Given the description of an element on the screen output the (x, y) to click on. 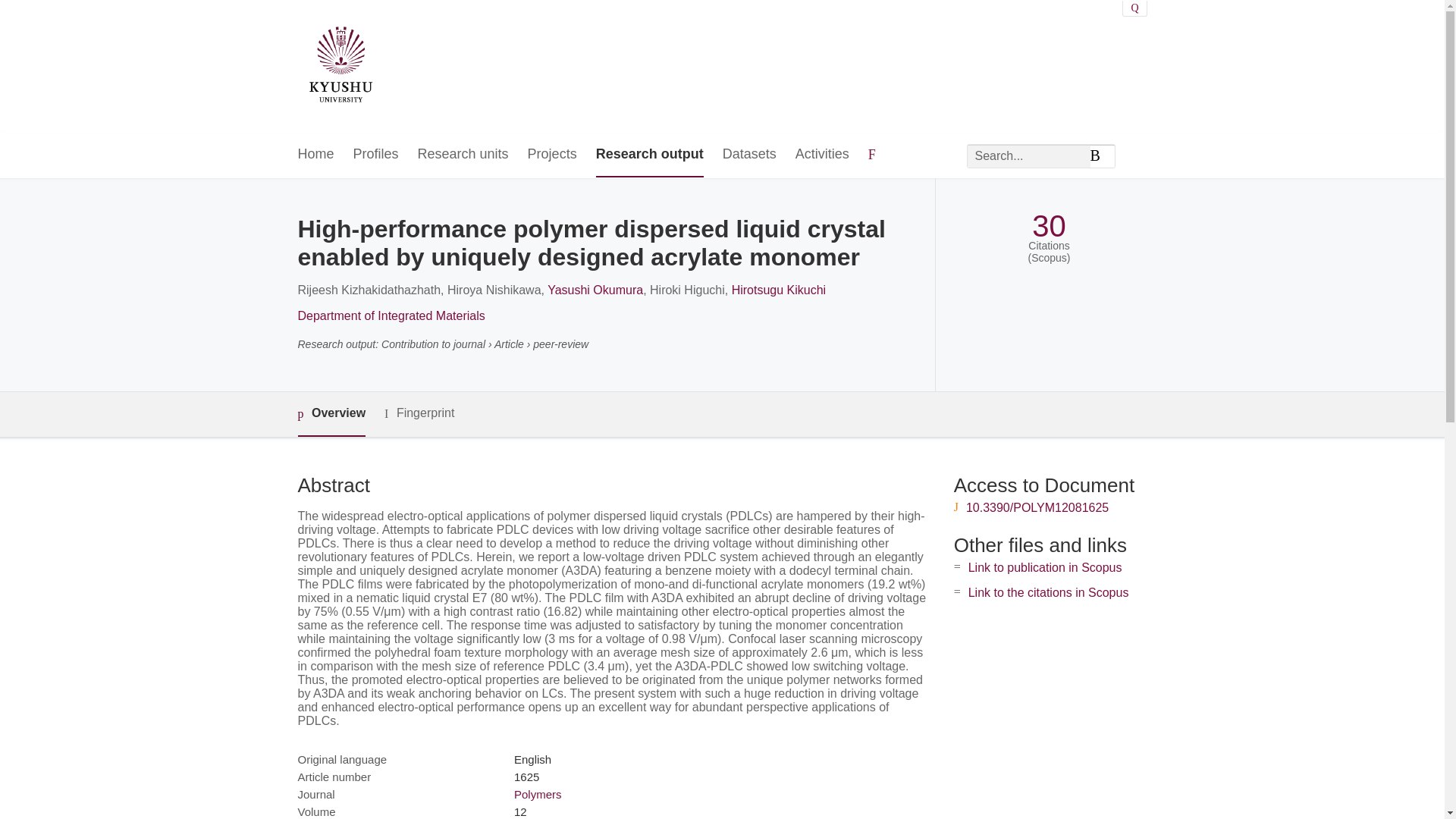
Yasushi Okumura (595, 289)
Projects (551, 154)
30 (1048, 225)
Datasets (749, 154)
Research units (462, 154)
Profiles (375, 154)
Link to publication in Scopus (1045, 567)
Department of Integrated Materials (390, 315)
Research output (649, 154)
Activities (821, 154)
Polymers (537, 793)
Overview (331, 414)
Hirotsugu Kikuchi (779, 289)
Link to the citations in Scopus (1048, 592)
